Given the description of an element on the screen output the (x, y) to click on. 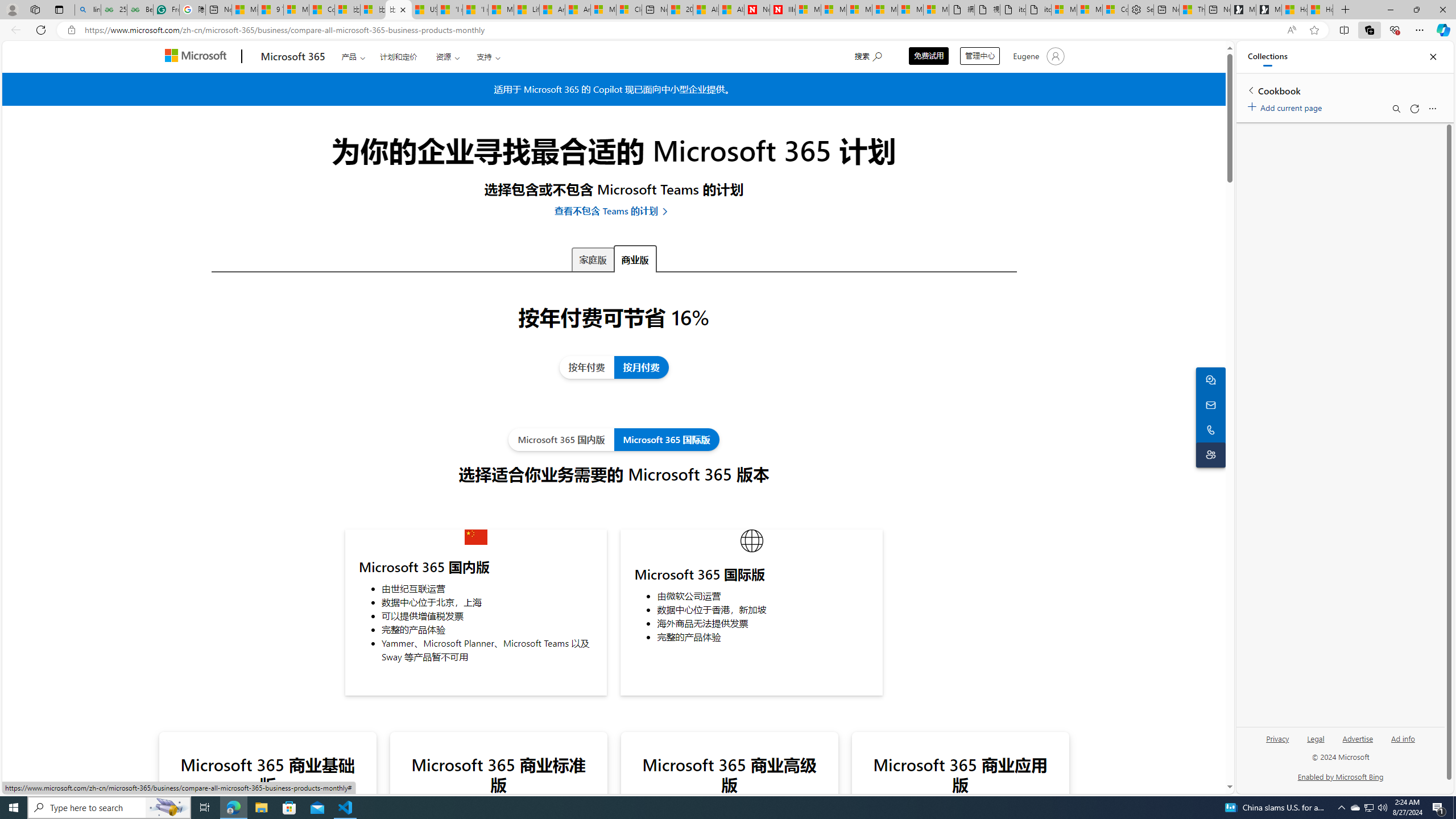
Lifestyle - MSN (526, 9)
itconcepthk.com/projector_solutions.mp4 (1037, 9)
